Given the description of an element on the screen output the (x, y) to click on. 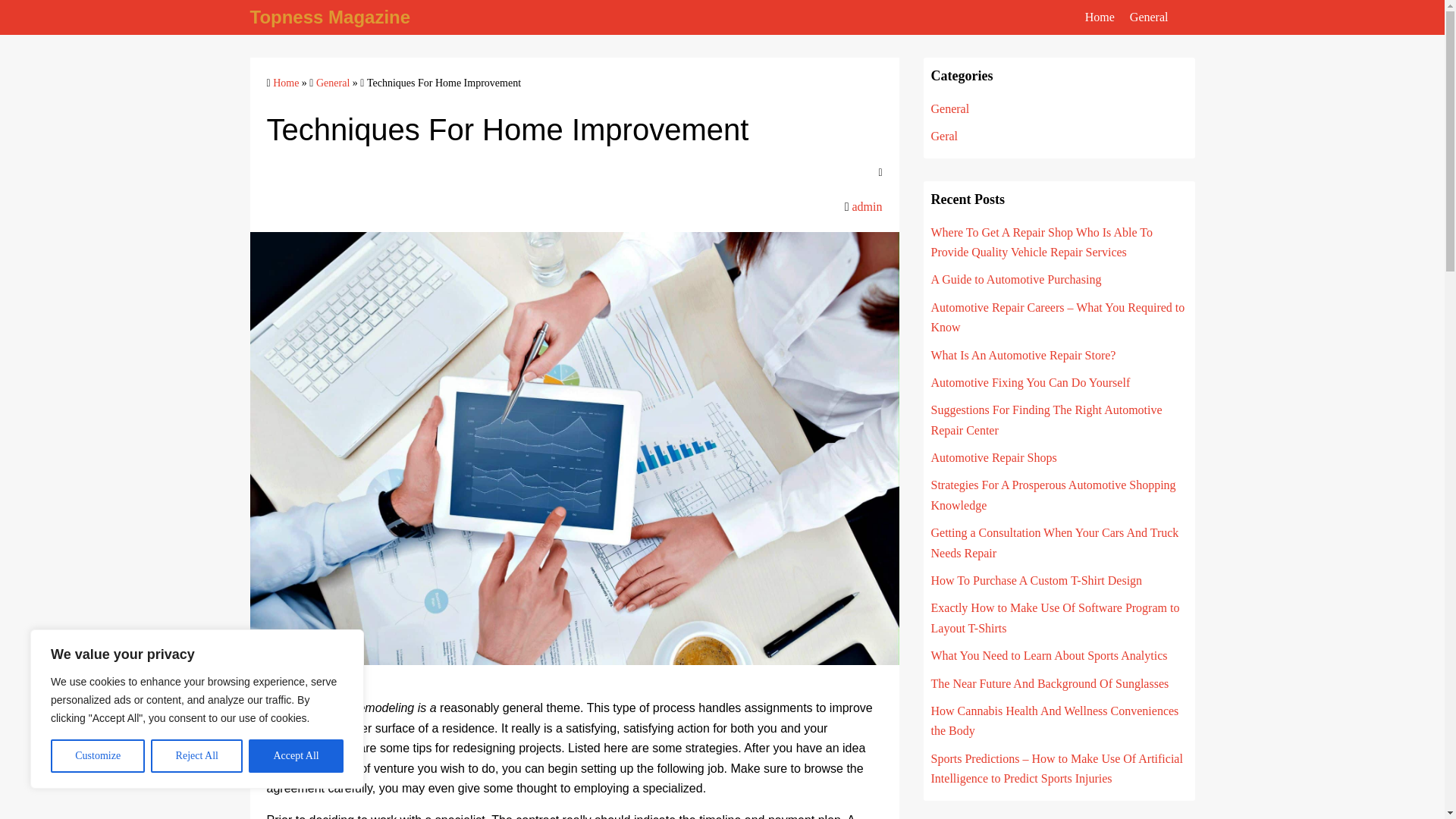
Geral (944, 135)
Topness Magazine (330, 16)
Home (285, 82)
General (1149, 17)
Accept All (295, 756)
A Guide to Automotive Purchasing (1016, 278)
admin (866, 205)
Customize (97, 756)
General (950, 108)
